Given the description of an element on the screen output the (x, y) to click on. 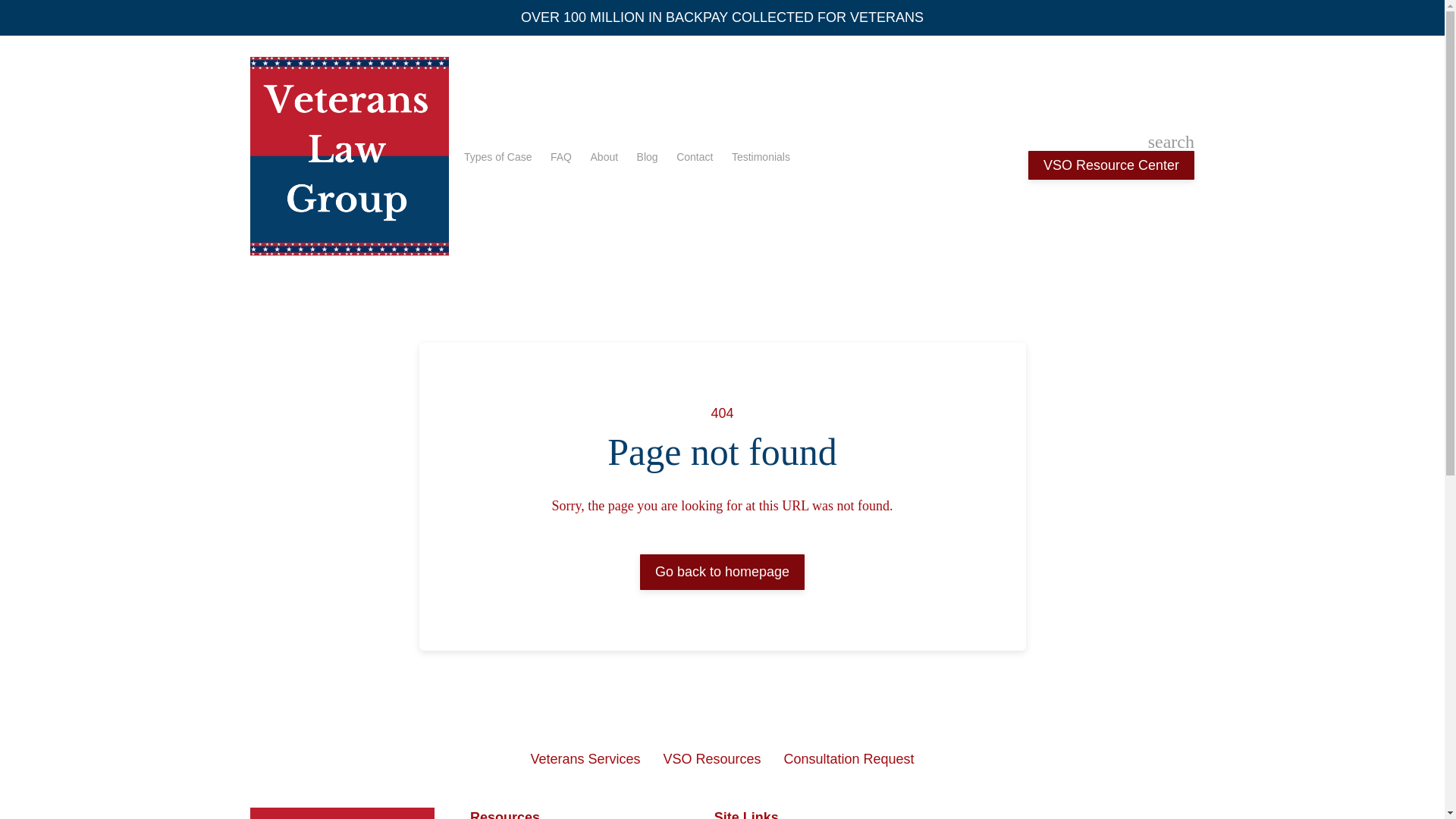
Site Links (828, 813)
Blog (647, 157)
Resources (584, 813)
Contact (695, 157)
Logo 1-4 (341, 813)
About (604, 157)
Testimonials (761, 157)
VSO Resource Center (1110, 164)
Go back to homepage (722, 571)
Types of Case (498, 157)
Logo 4 (349, 155)
Consultation Request (849, 758)
VSO Resources (711, 758)
FAQ (561, 157)
Veterans Services (584, 758)
